Given the description of an element on the screen output the (x, y) to click on. 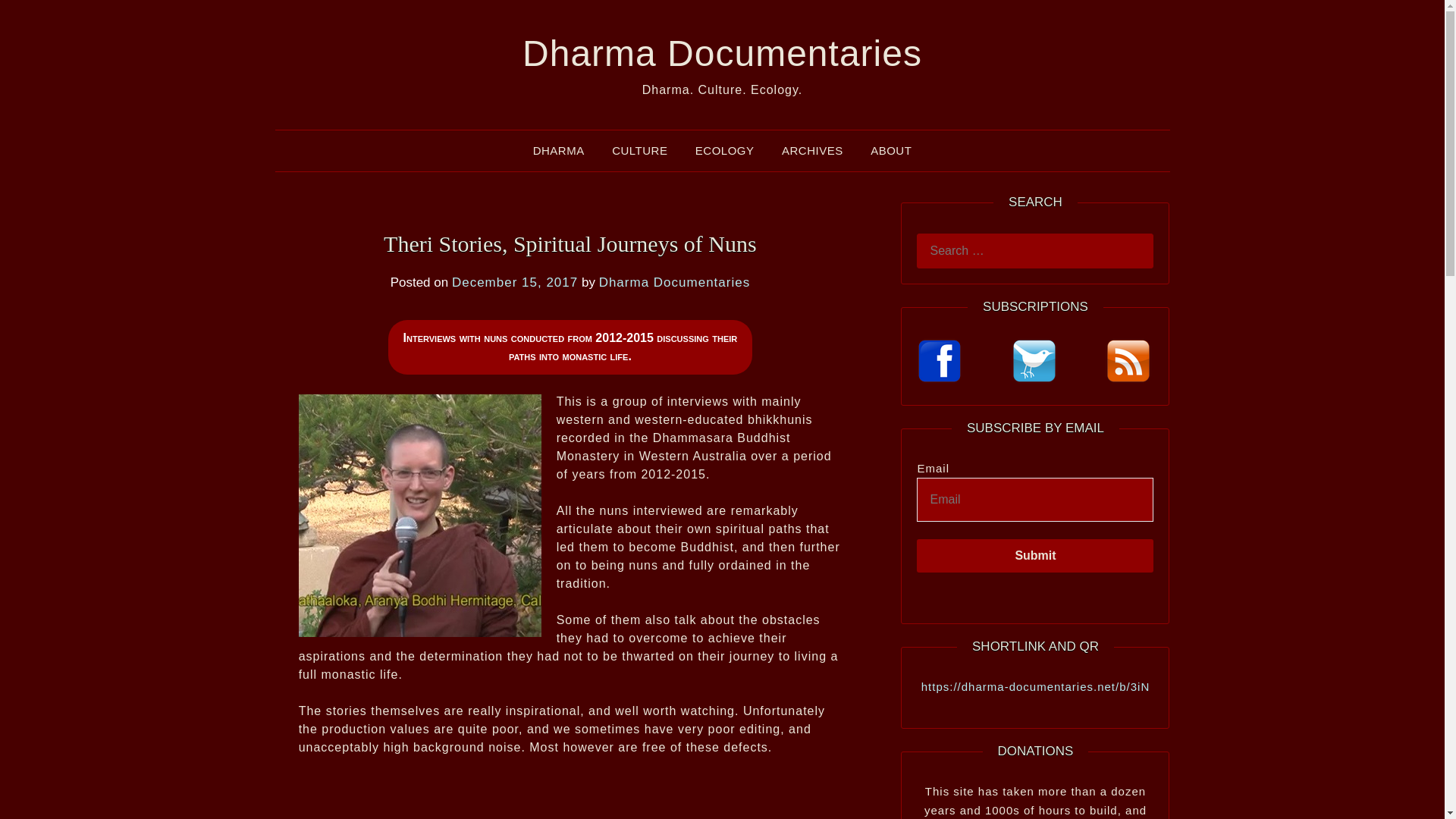
ECOLOGY (724, 150)
ARCHIVES (813, 150)
Submit (1035, 555)
Submit (1035, 555)
CULTURE (639, 150)
Follow our Facebook Page (939, 361)
DHARMA (558, 150)
December 15, 2017 (514, 282)
Follow our Tweets (1034, 361)
Dharma Documentaries (721, 53)
Subscribe to our Feed (1128, 361)
ABOUT (891, 150)
Dharma Documentaries (674, 282)
